Given the description of an element on the screen output the (x, y) to click on. 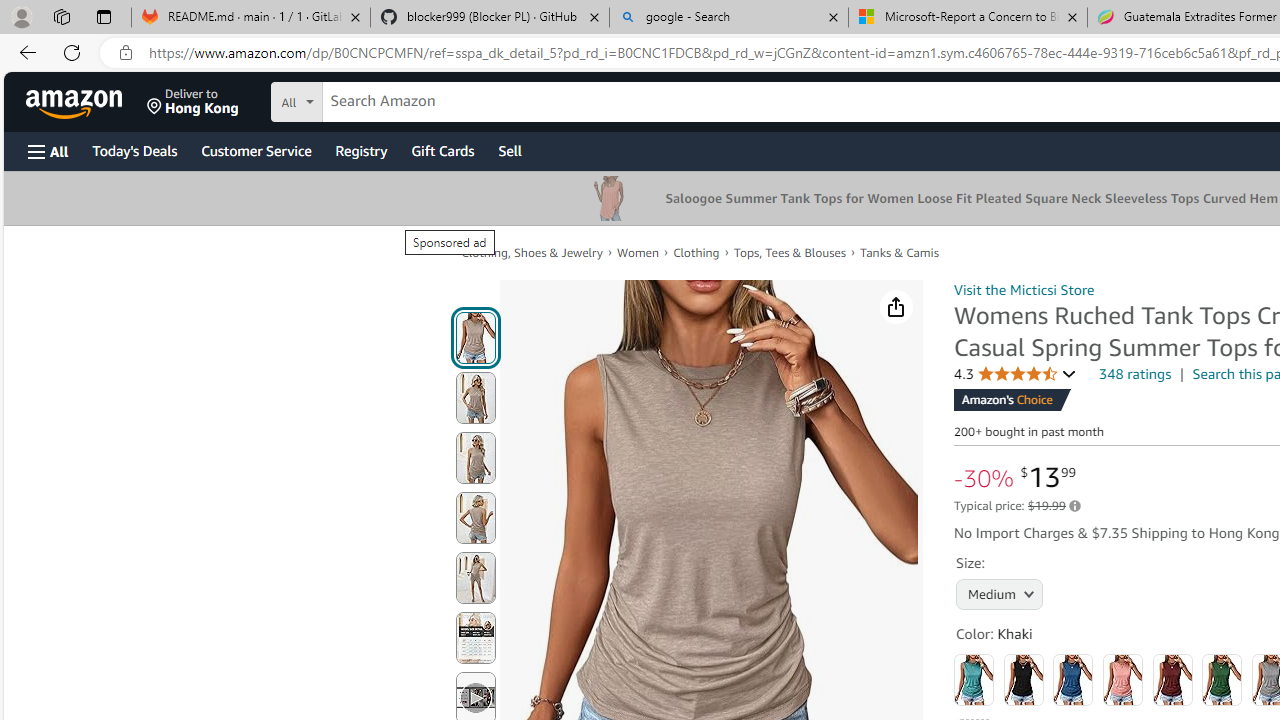
Tops, Tees & Blouses (789, 251)
4.3 4.3 out of 5 stars (1015, 373)
Coral (1123, 679)
Registry (360, 150)
